Given the description of an element on the screen output the (x, y) to click on. 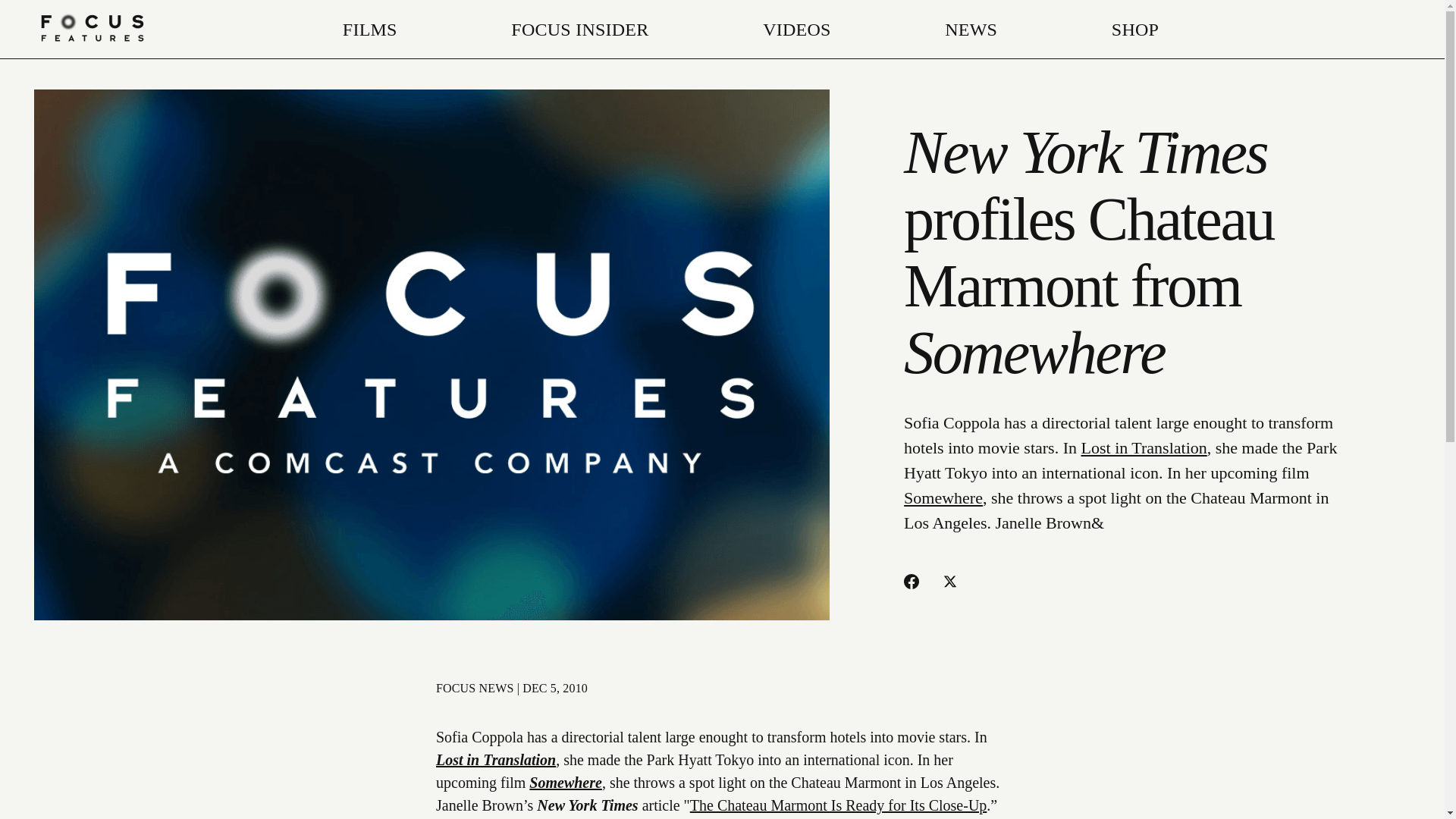
Somewhere (943, 497)
The Chateau Marmont Is Ready for Its Close-Up (838, 805)
FILMS (369, 28)
Somewhere (565, 782)
VIDEOS (795, 28)
Lost in Translation (1144, 447)
Lost in Translation (495, 759)
NEWS (970, 28)
FOCUS INSIDER (579, 28)
SHOP (1135, 28)
